Given the description of an element on the screen output the (x, y) to click on. 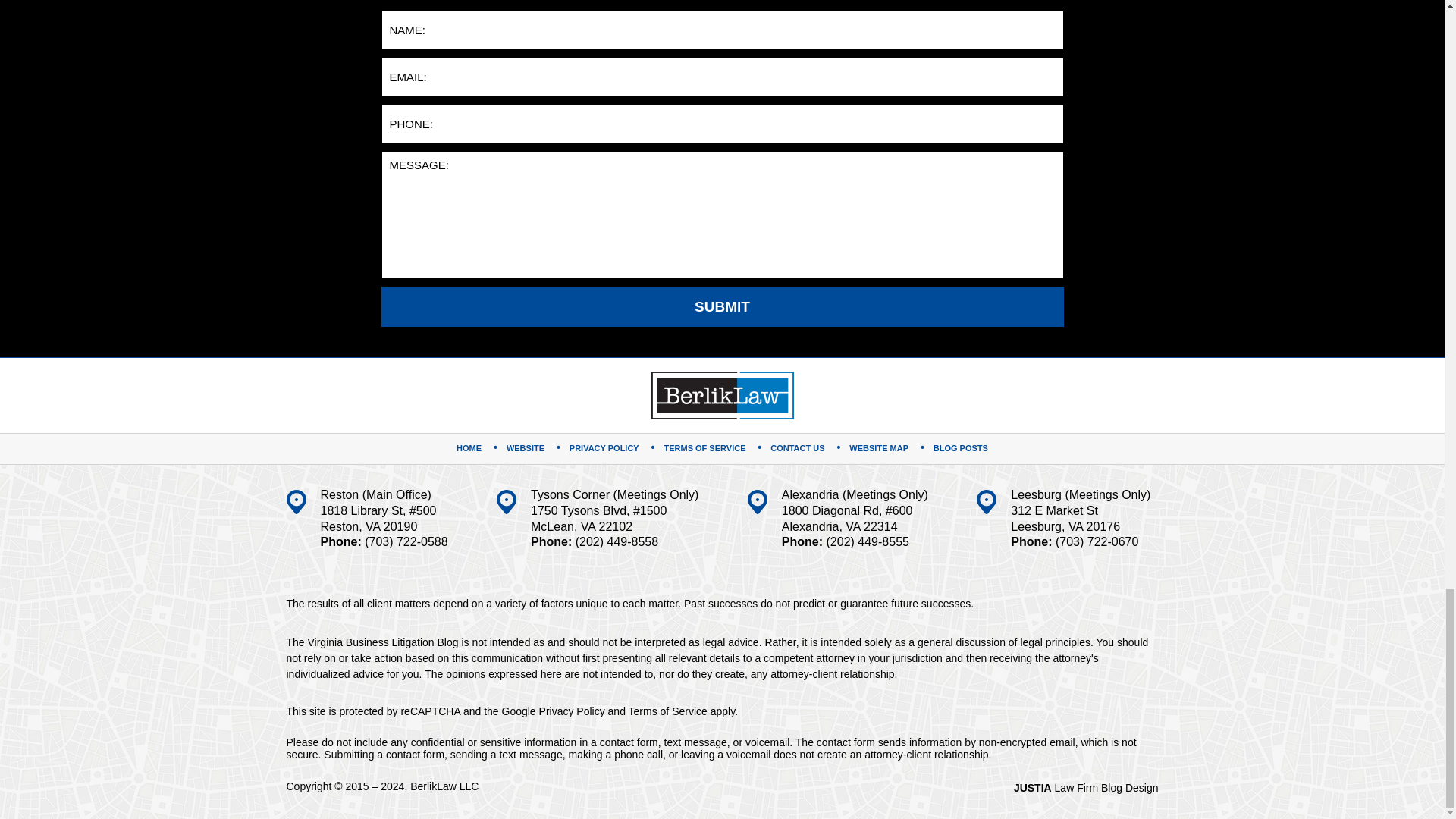
Please enter a valid phone number. (721, 124)
